Given the description of an element on the screen output the (x, y) to click on. 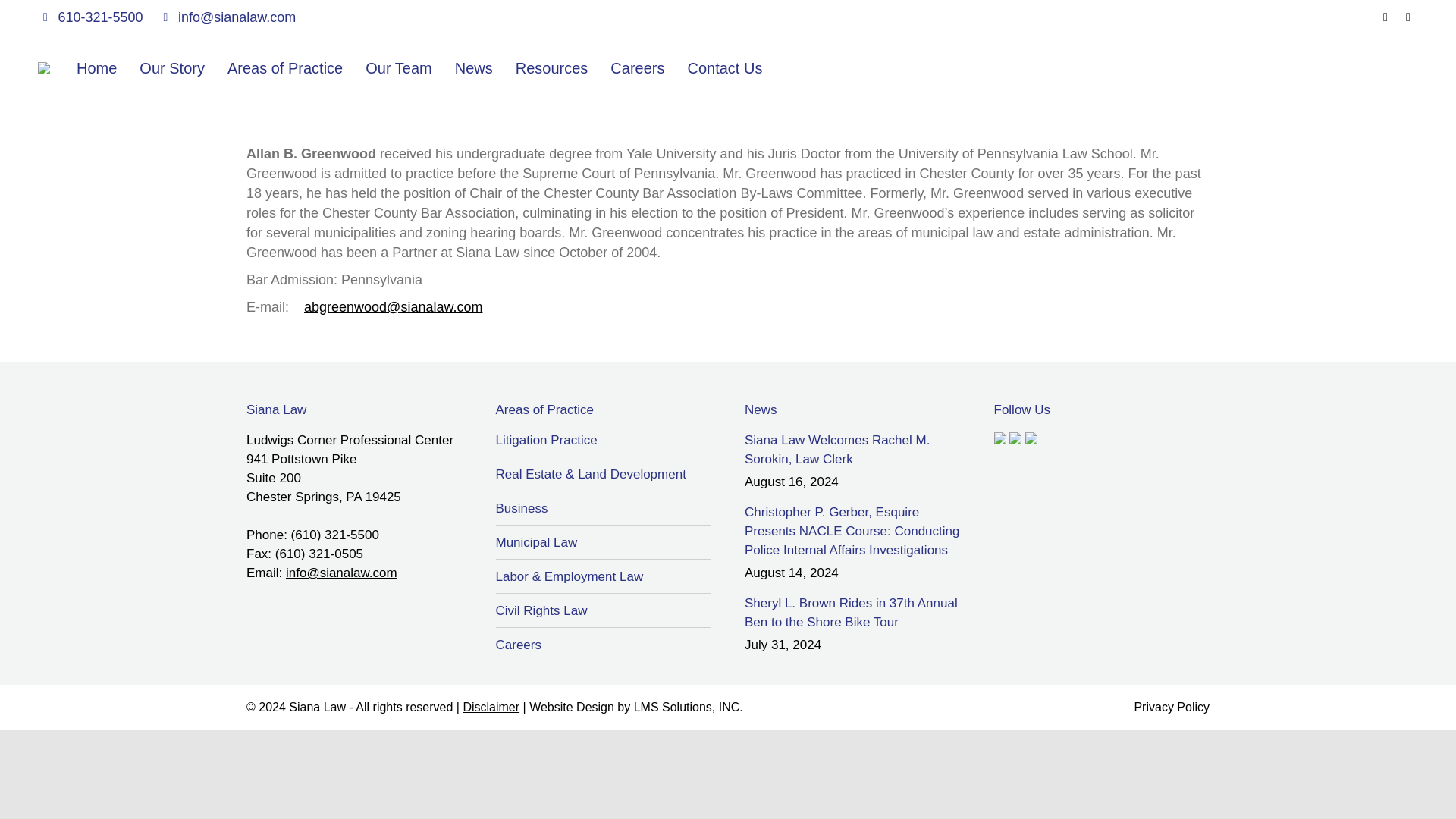
Facebook page opens in new window (1384, 17)
Linkedin page opens in new window (1407, 17)
Small Business Marketing Experts (687, 707)
Linkedin page opens in new window (1407, 17)
Careers (636, 68)
Contact Us (724, 68)
Areas of Practice (284, 68)
Resources (551, 68)
Our Story (172, 68)
Disclaimers (491, 707)
